Given the description of an element on the screen output the (x, y) to click on. 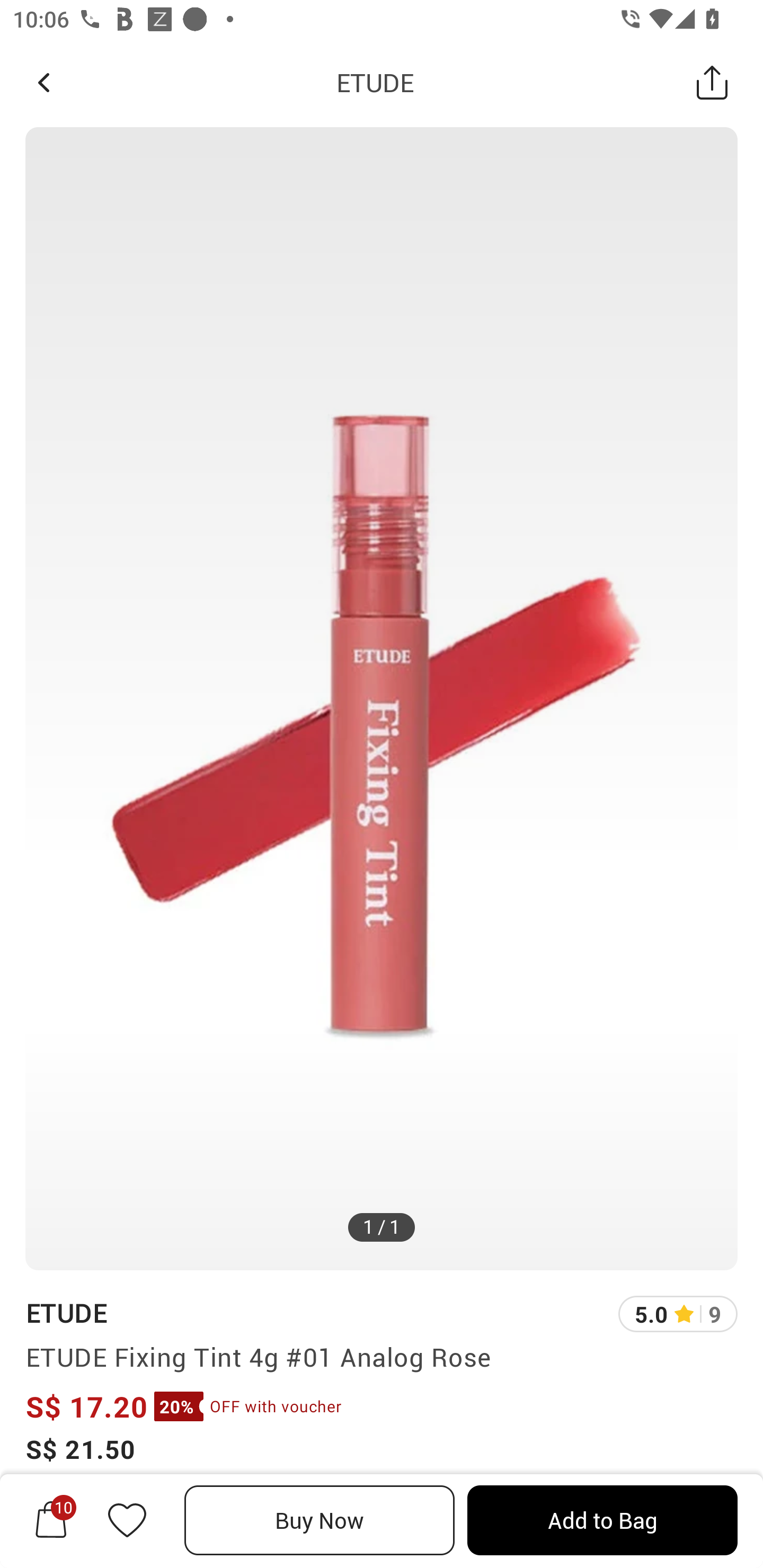
ETUDE (375, 82)
Share this Product (711, 82)
ETUDE (65, 1312)
5.0 9 (677, 1313)
Buy Now (319, 1519)
Add to Bag (601, 1519)
10 (50, 1520)
